Given the description of an element on the screen output the (x, y) to click on. 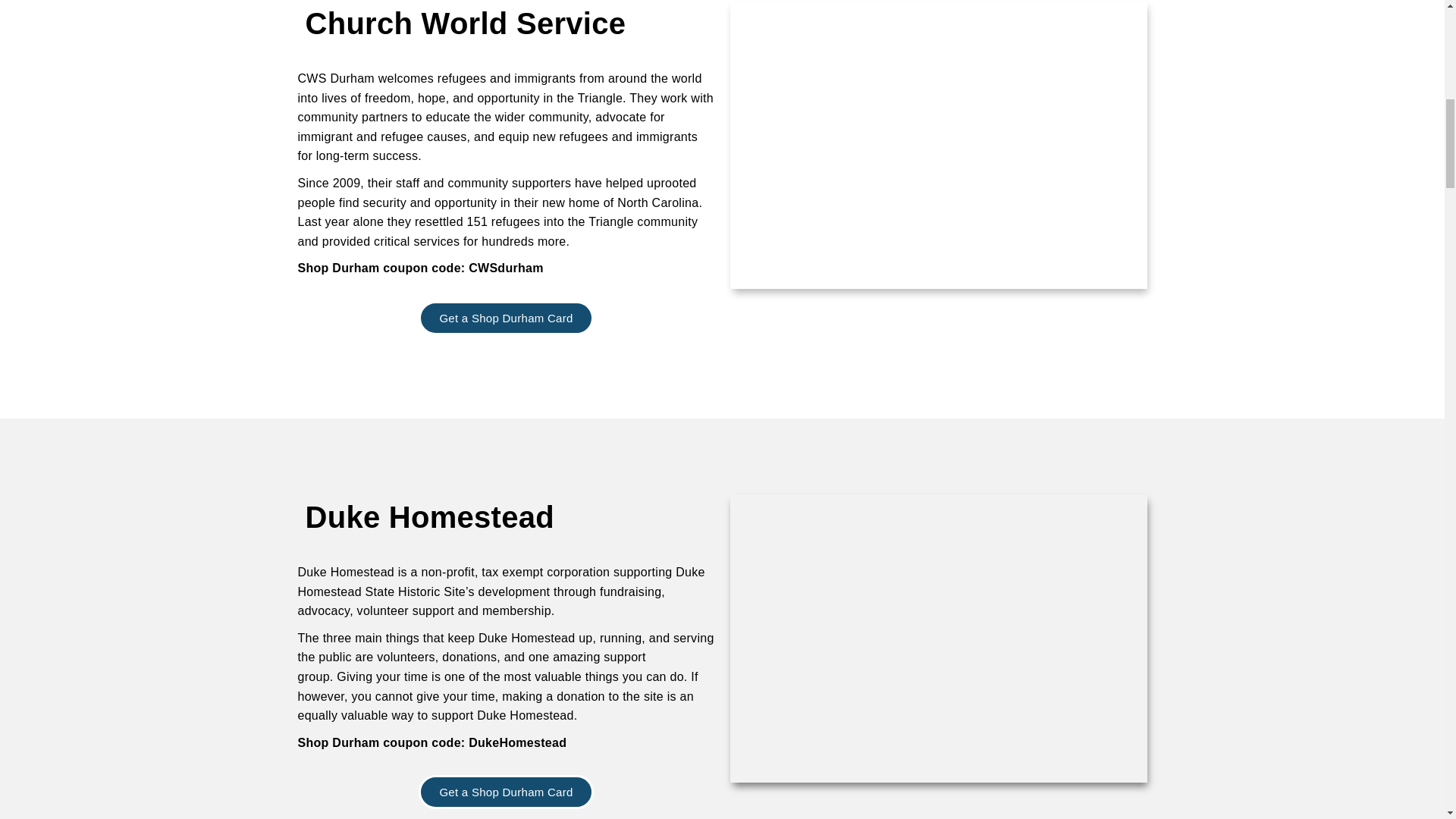
Shop Durham coupon code: (380, 742)
Get a Shop Durham Card (505, 317)
Church World Service (465, 23)
Shop Durham coupon code: (380, 267)
Get a Shop Durham Card (505, 791)
Duke Homestead (428, 516)
